Given the description of an element on the screen output the (x, y) to click on. 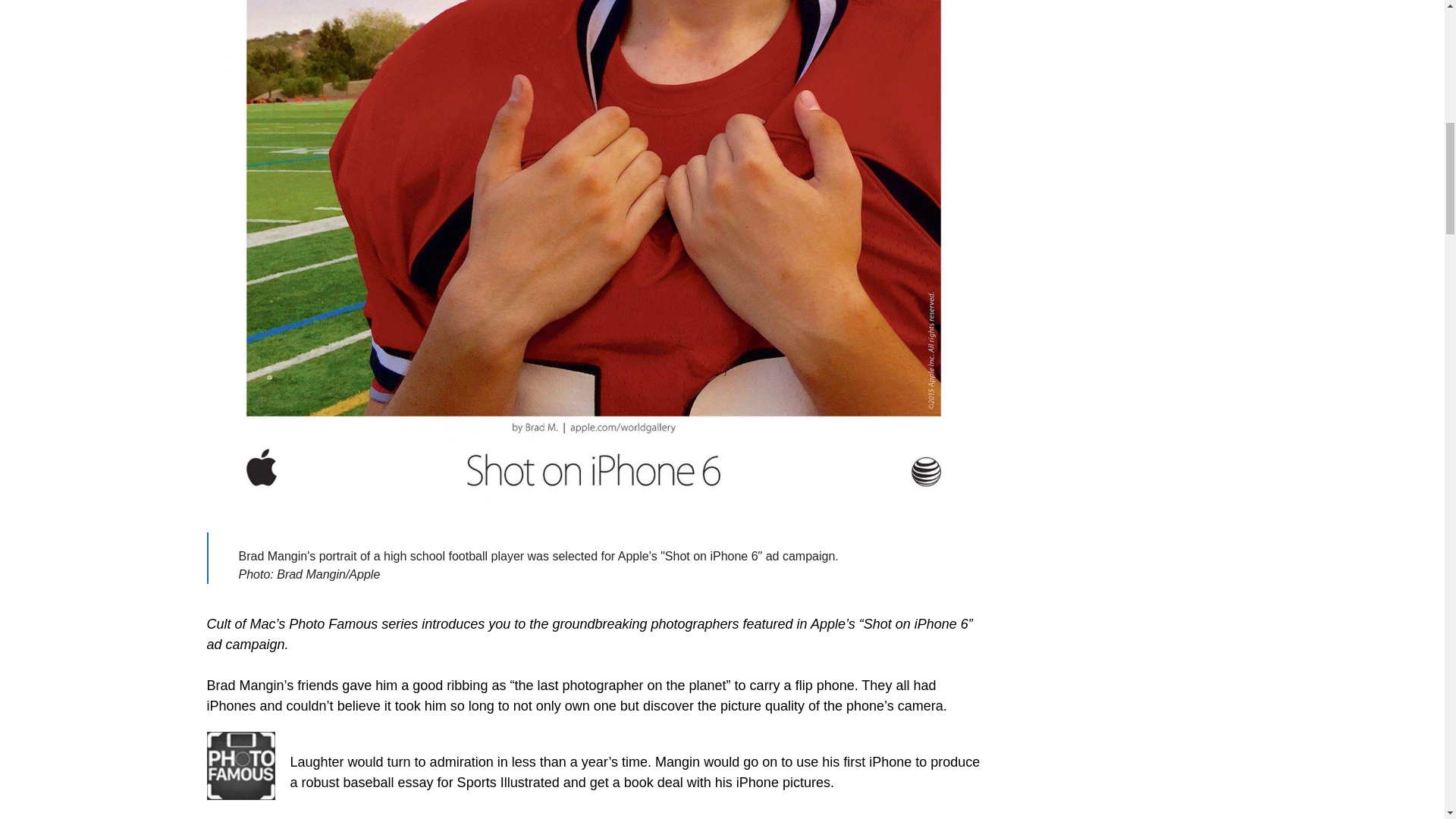
Throwback Thursday Tech (240, 766)
